Given the description of an element on the screen output the (x, y) to click on. 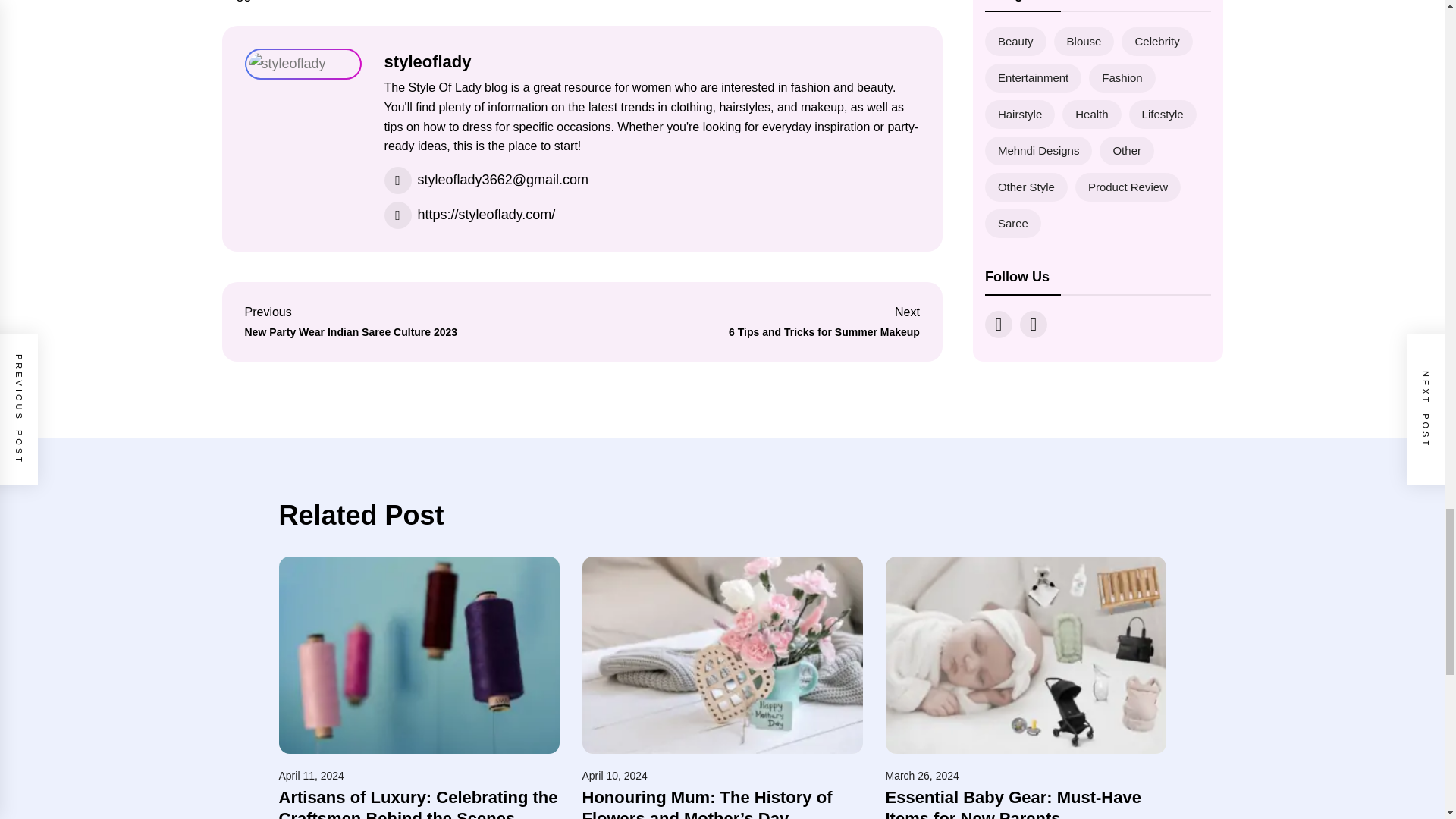
styleoflady (427, 61)
Summer Fashion Trends (757, 321)
